Given the description of an element on the screen output the (x, y) to click on. 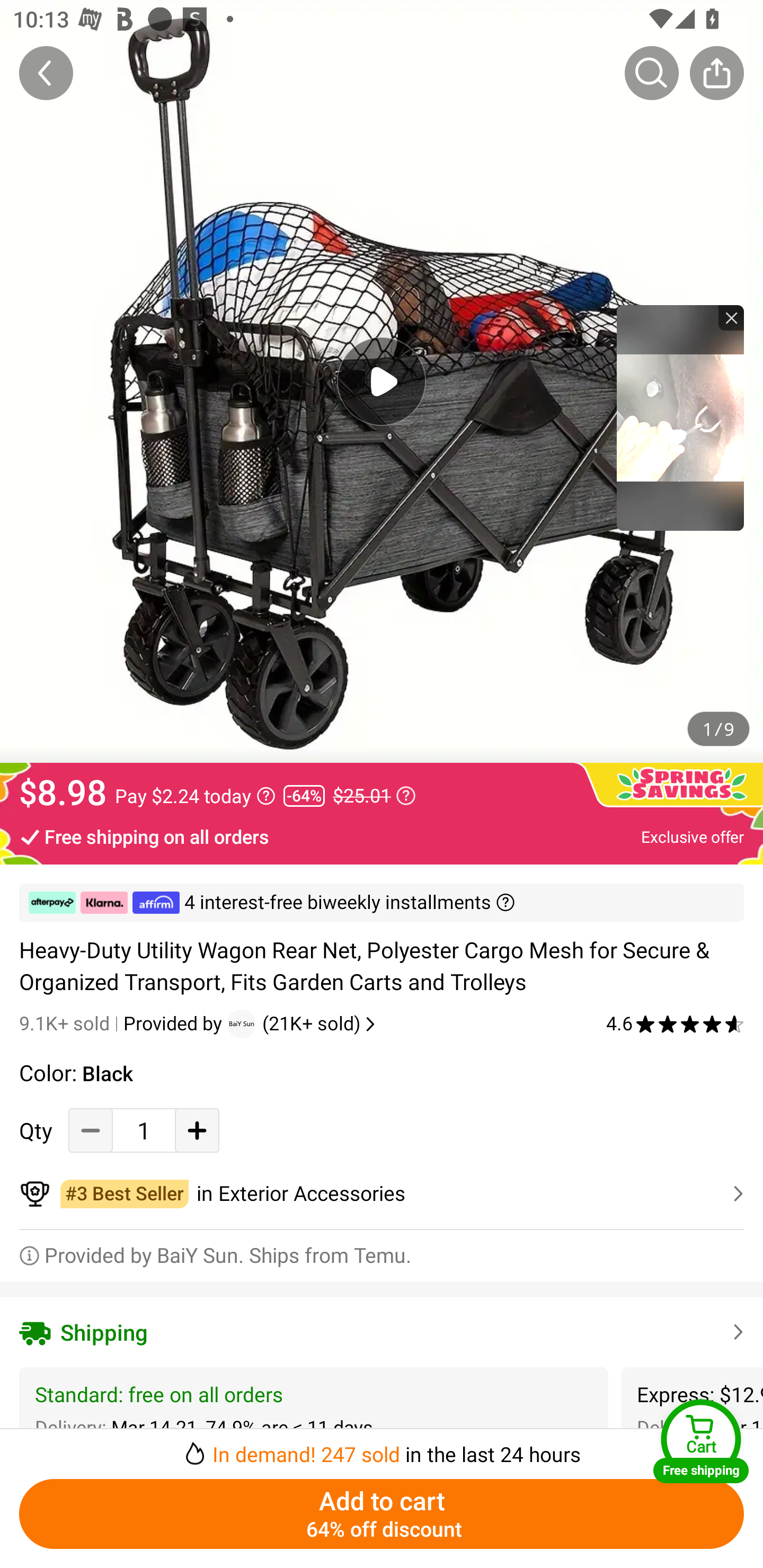
Back (46, 72)
Share (716, 72)
tronplayer_view (680, 417)
Pay $2.24 today   (195, 795)
Free shipping on all orders Exclusive offer (381, 836)
￼ ￼ ￼ 4 interest-free biweekly installments ￼ (381, 902)
9.1K+ sold Provided by  (123, 1023)
4.6 (674, 1023)
Decrease Quantity Button (90, 1130)
1 (143, 1130)
Add Quantity button (196, 1130)
￼￼in Exterior Accessories (381, 1193)
Shipping (381, 1331)
Cart Free shipping Cart (701, 1440)
￼￼In demand! 247 sold in the last 24 hours (381, 1448)
Add to cart  64% off discount (381, 1513)
